Given the description of an element on the screen output the (x, y) to click on. 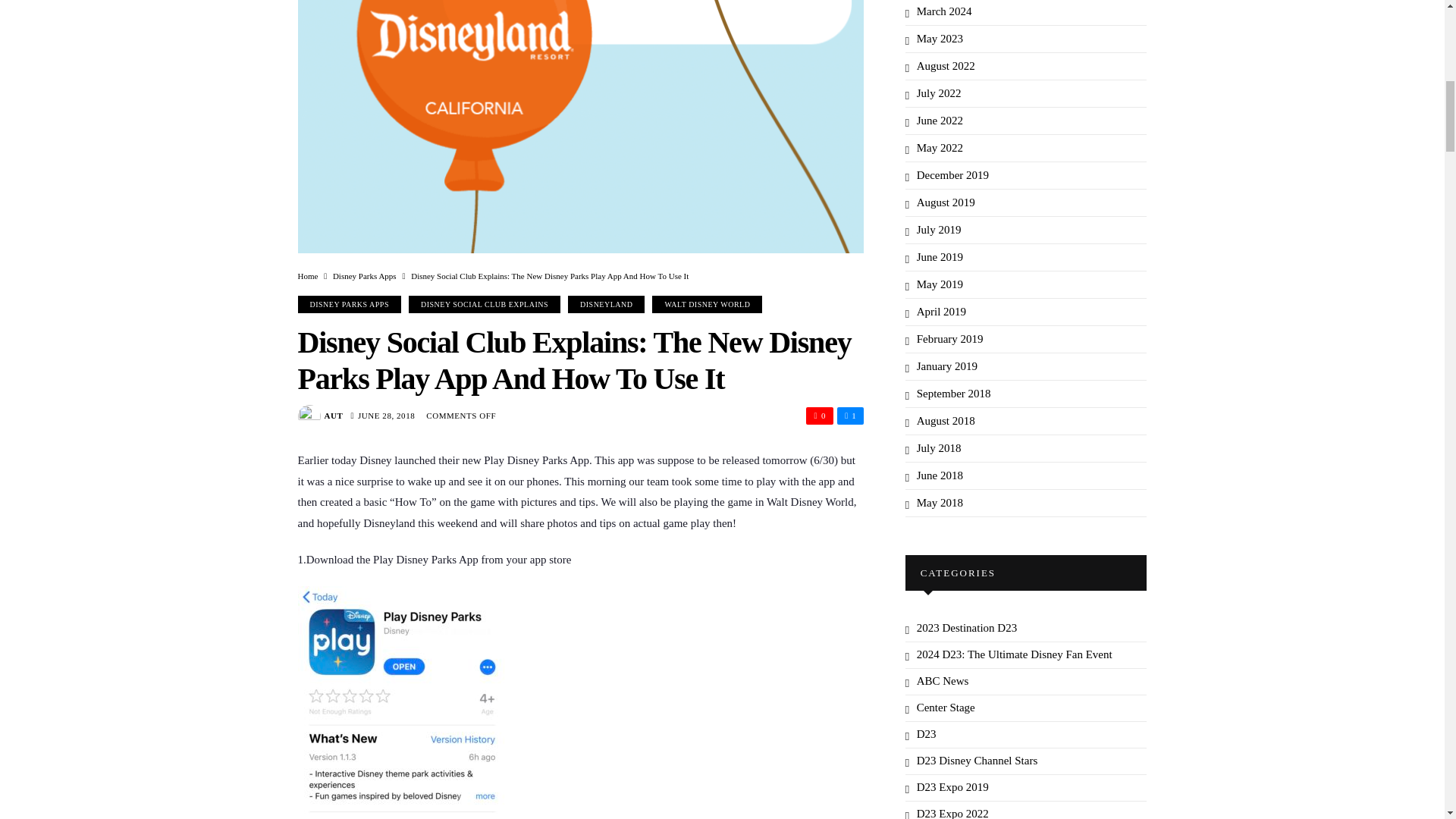
1 (850, 415)
AUT (333, 415)
DISNEYLAND (606, 303)
DISNEY PARKS APPS (348, 303)
Home (307, 275)
Like (850, 415)
DISNEY SOCIAL CLUB EXPLAINS (484, 303)
WALT DISNEY WORLD (706, 303)
Posts by Aut (333, 415)
Disney Parks Apps (364, 275)
